Given the description of an element on the screen output the (x, y) to click on. 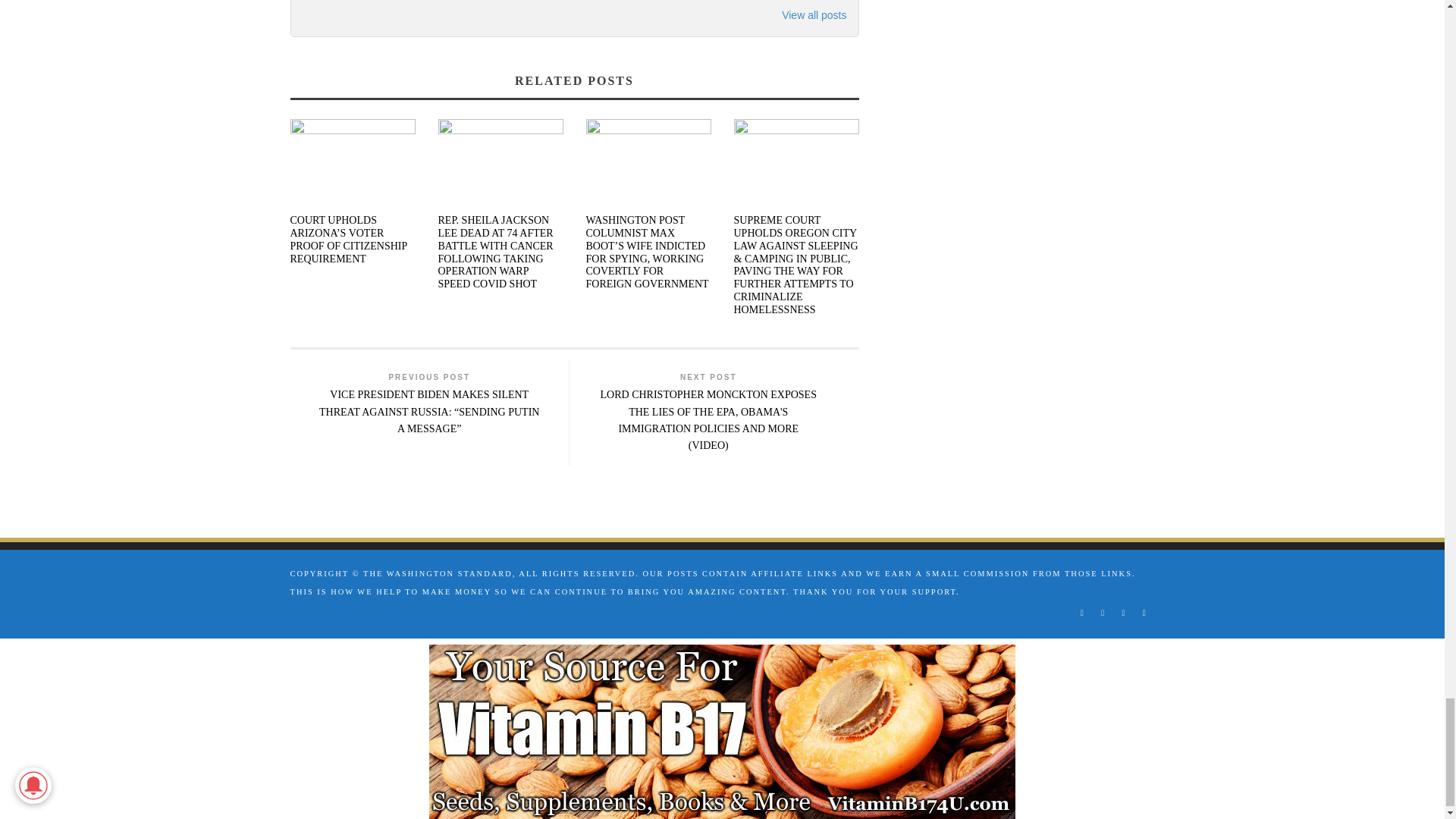
RSS (1102, 612)
Youtube (1144, 612)
Twitter (1123, 612)
Facebook (1081, 612)
